Given the description of an element on the screen output the (x, y) to click on. 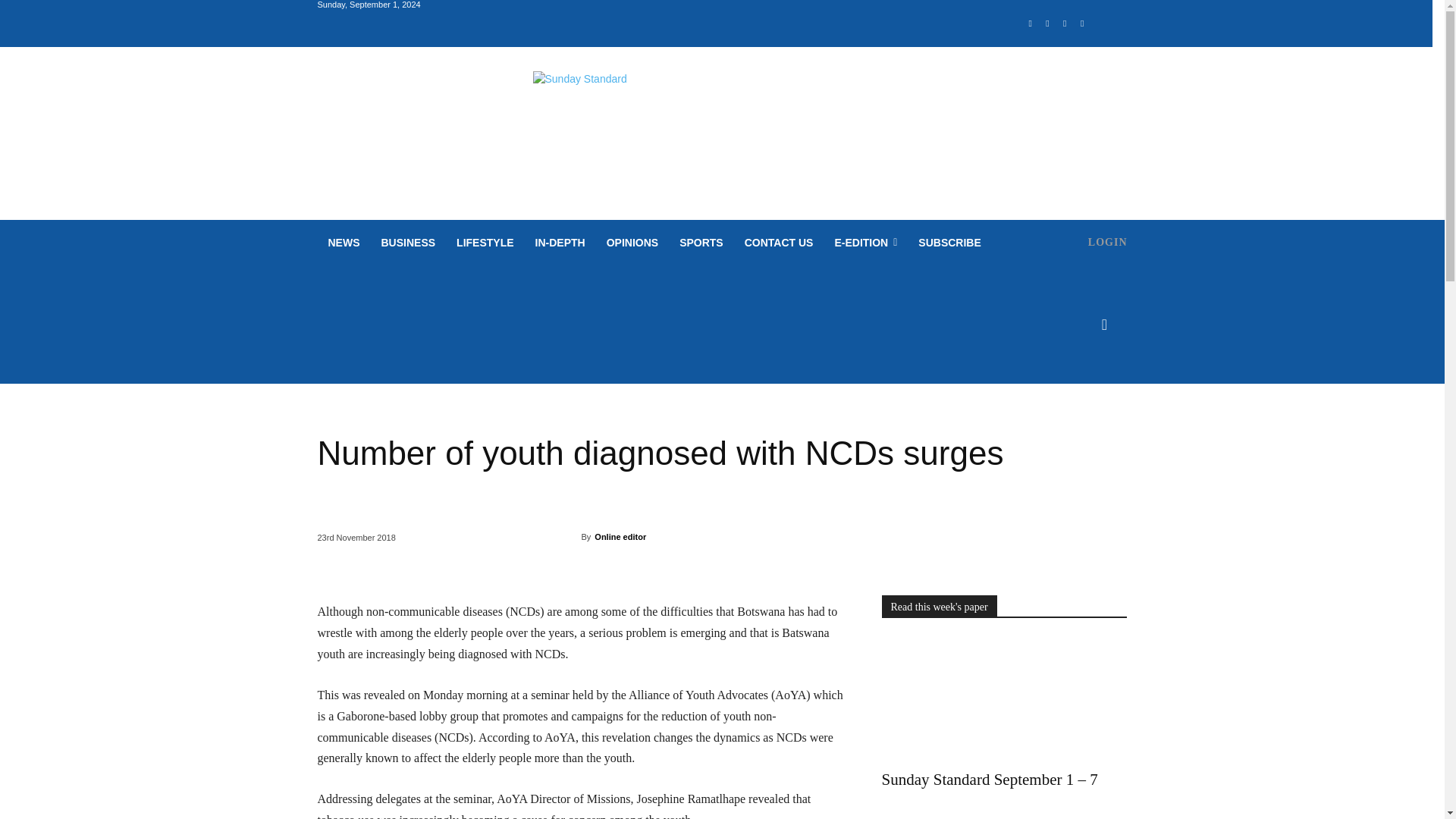
Facebook (1030, 23)
BUSINESS (407, 242)
NEWS (343, 242)
Twitter (1065, 23)
E-EDITION (865, 242)
IN-DEPTH (559, 242)
LIFESTYLE (484, 242)
Instagram (1048, 23)
CONTACT US (778, 242)
Sunday Standard (721, 114)
